Given the description of an element on the screen output the (x, y) to click on. 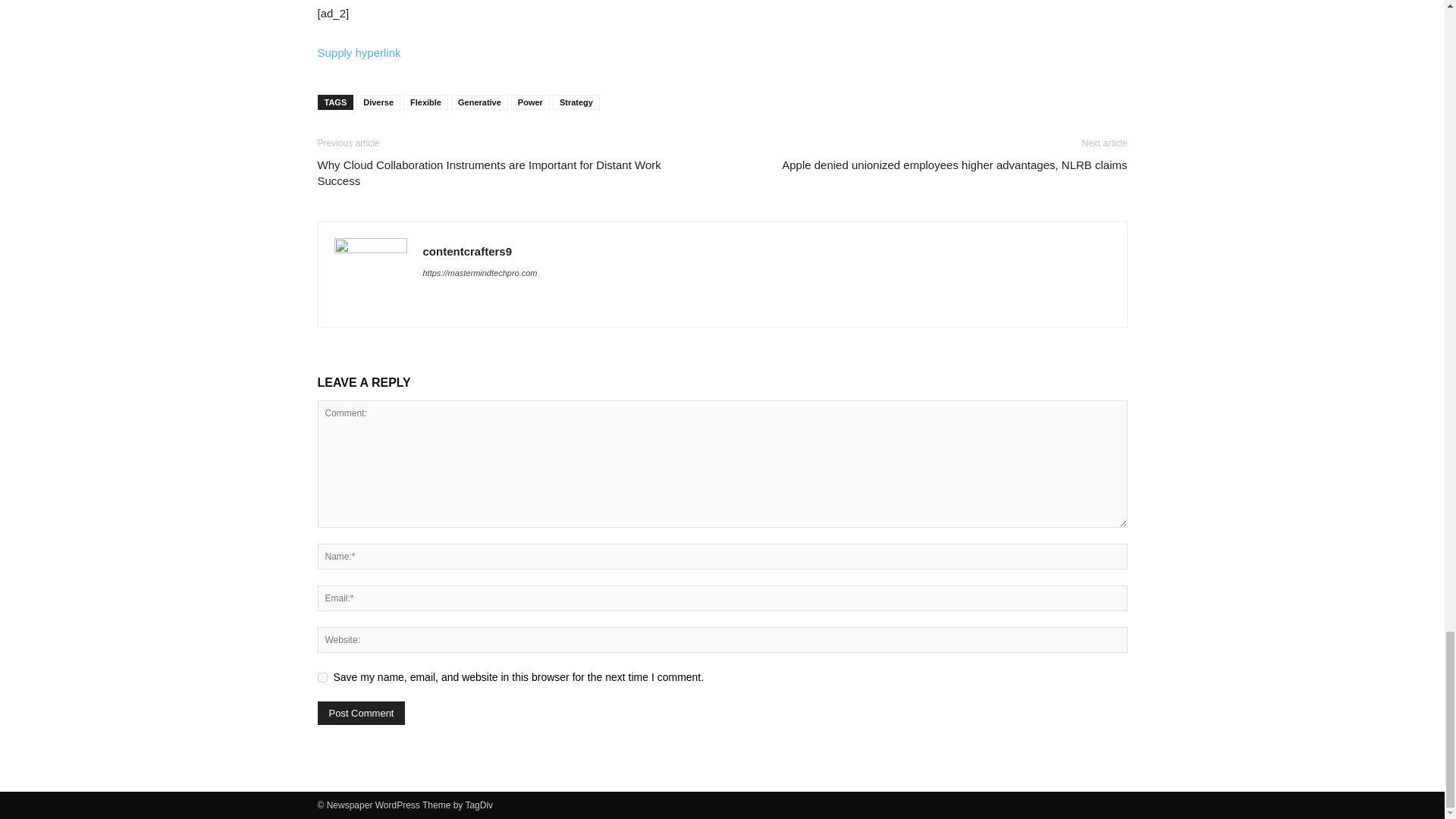
Diverse (378, 102)
Power (530, 102)
Flexible (425, 102)
Strategy (576, 102)
Post Comment (360, 712)
contentcrafters9 (467, 250)
Supply hyperlink (358, 51)
Generative (479, 102)
yes (321, 677)
